Given the description of an element on the screen output the (x, y) to click on. 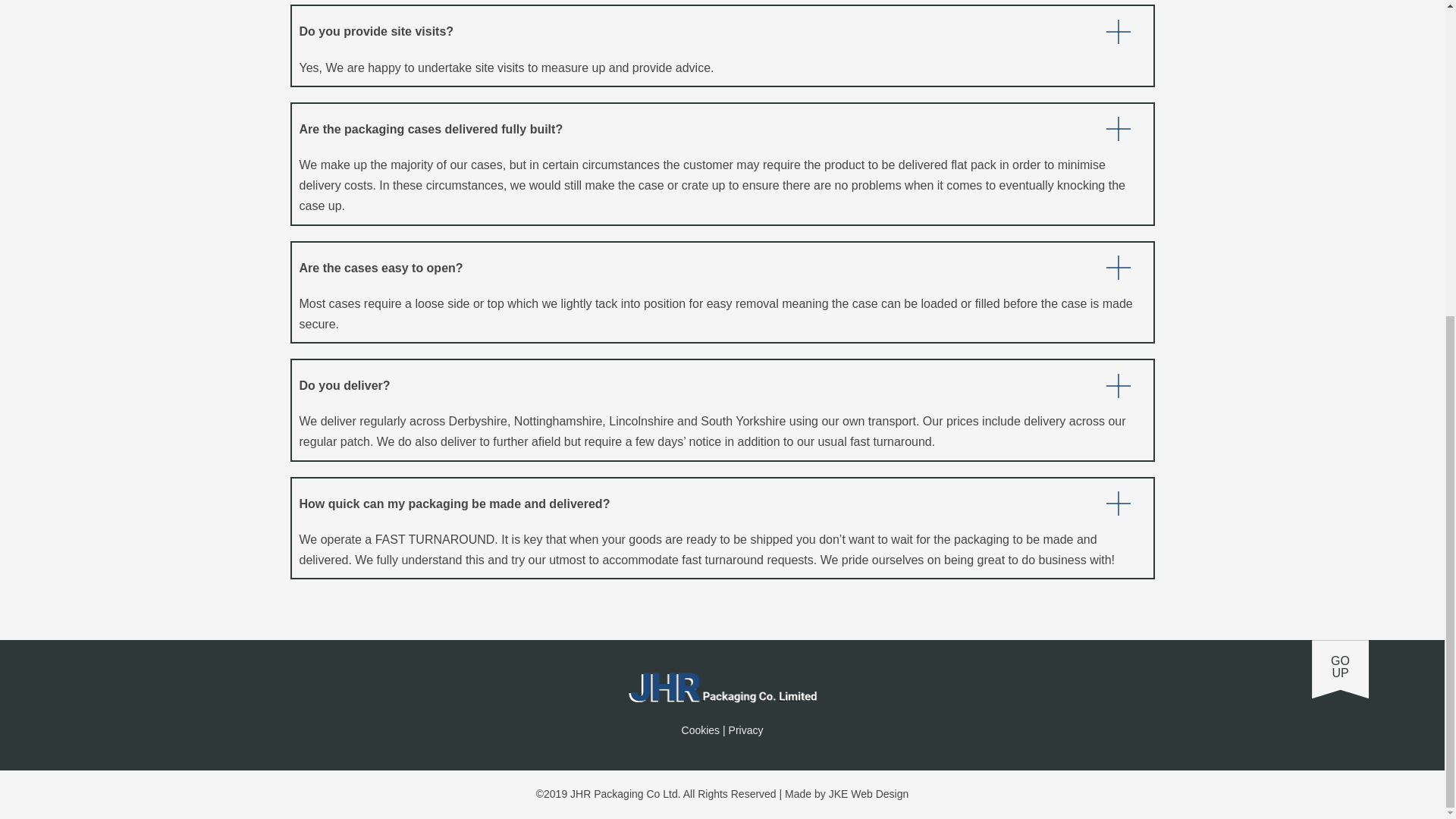
JKE Web Design (868, 793)
Bespoke Packaging Services (721, 687)
Privacy (745, 729)
Cookies (1339, 668)
